Given the description of an element on the screen output the (x, y) to click on. 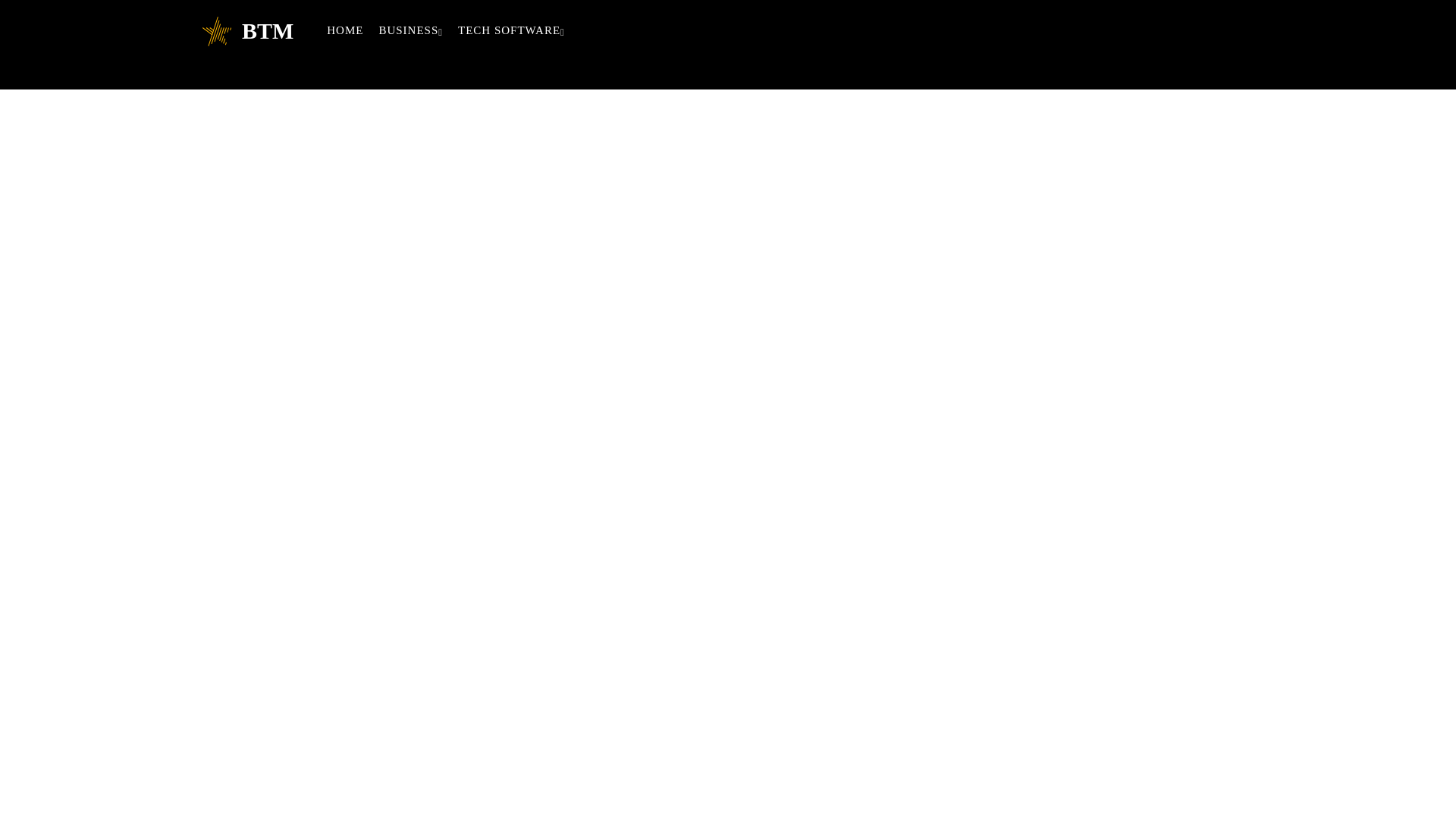
BTM (247, 30)
TECH SOFTWARE (510, 30)
HOME (344, 30)
BUSINESS (410, 30)
